Given the description of an element on the screen output the (x, y) to click on. 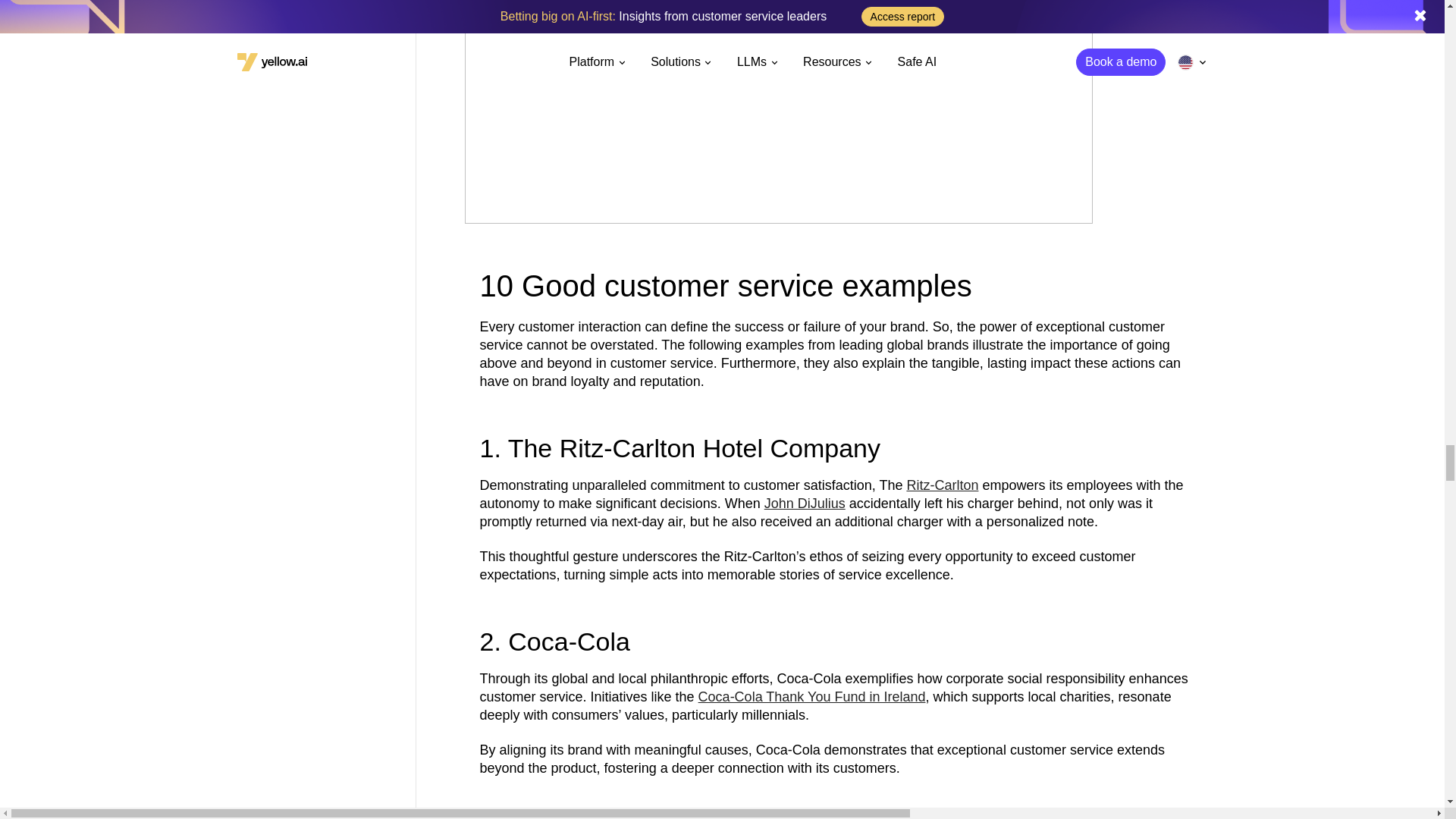
Coca-Cola Thank You Fund 2022 (842, 806)
